Given the description of an element on the screen output the (x, y) to click on. 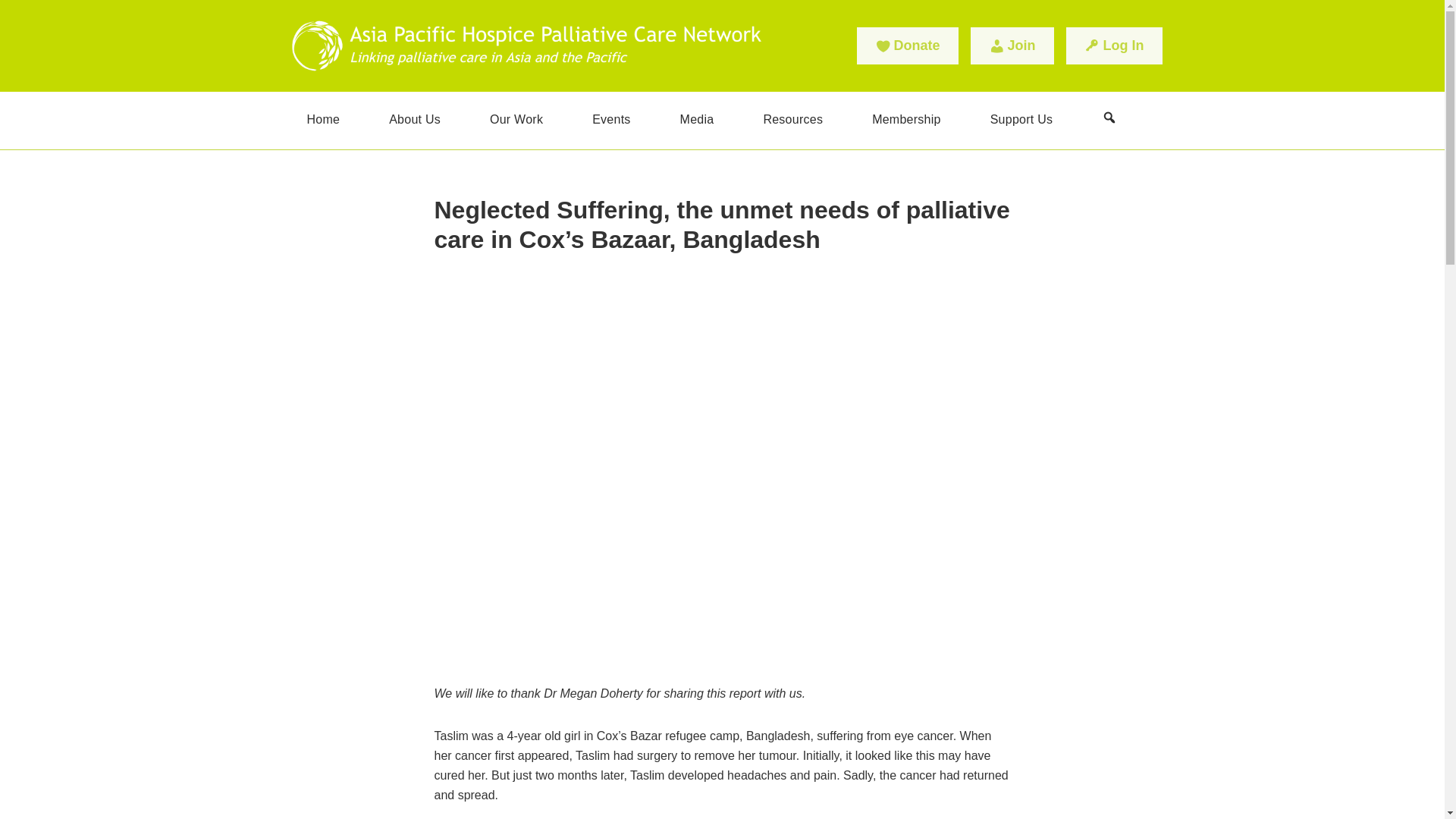
About Us (414, 119)
Membership (906, 119)
Donate (907, 45)
Media (697, 119)
Join (1012, 45)
Home (323, 119)
Events (610, 119)
Our Work (516, 119)
Log In (1113, 45)
